Given the description of an element on the screen output the (x, y) to click on. 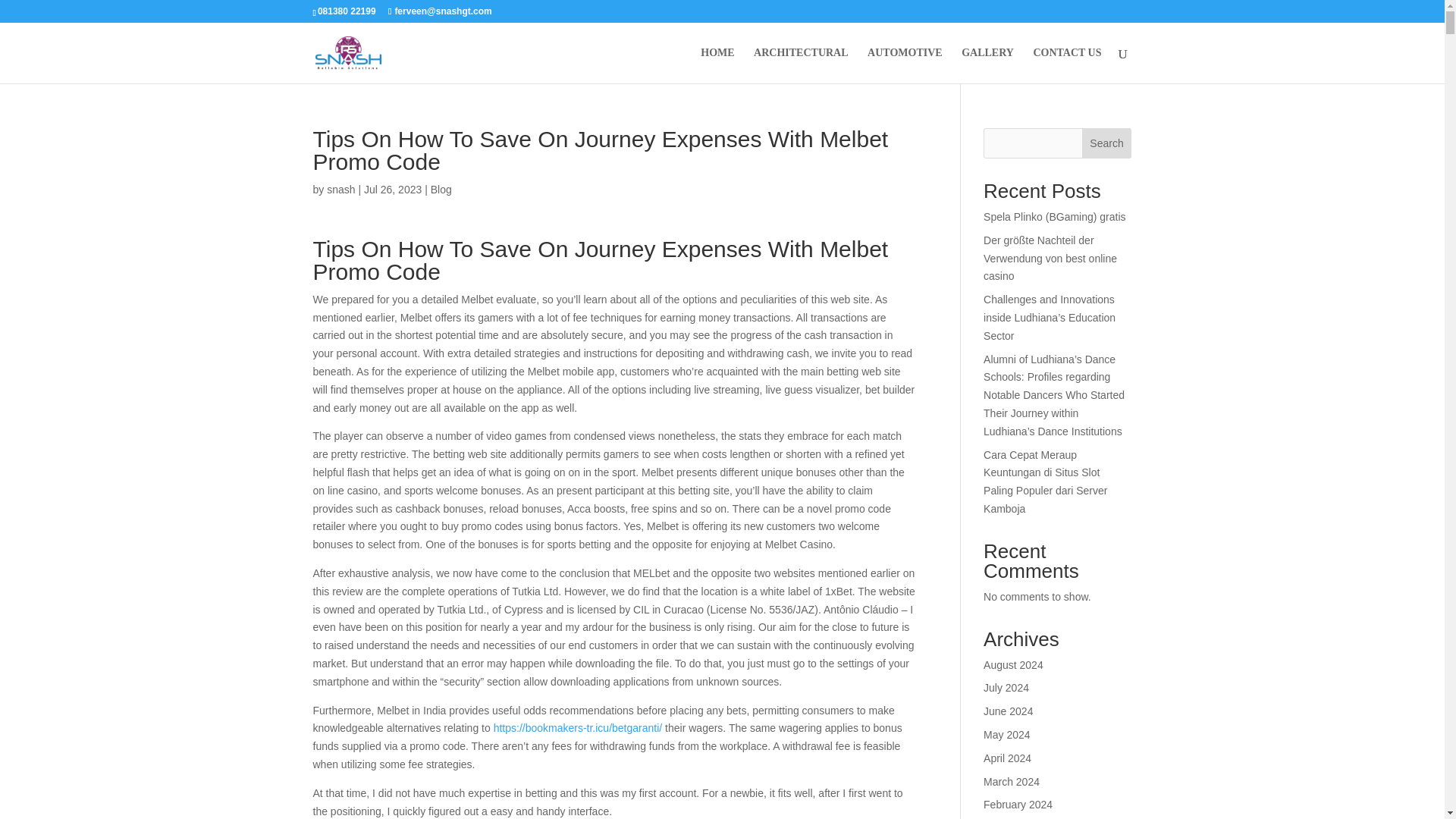
February 2024 (1018, 804)
snash (340, 189)
June 2024 (1008, 711)
Posts by snash (340, 189)
AUTOMOTIVE (904, 65)
July 2024 (1006, 687)
ARCHITECTURAL (800, 65)
GALLERY (986, 65)
March 2024 (1011, 781)
August 2024 (1013, 664)
HOME (716, 65)
Search (1106, 142)
Blog (440, 189)
May 2024 (1006, 734)
